Given the description of an element on the screen output the (x, y) to click on. 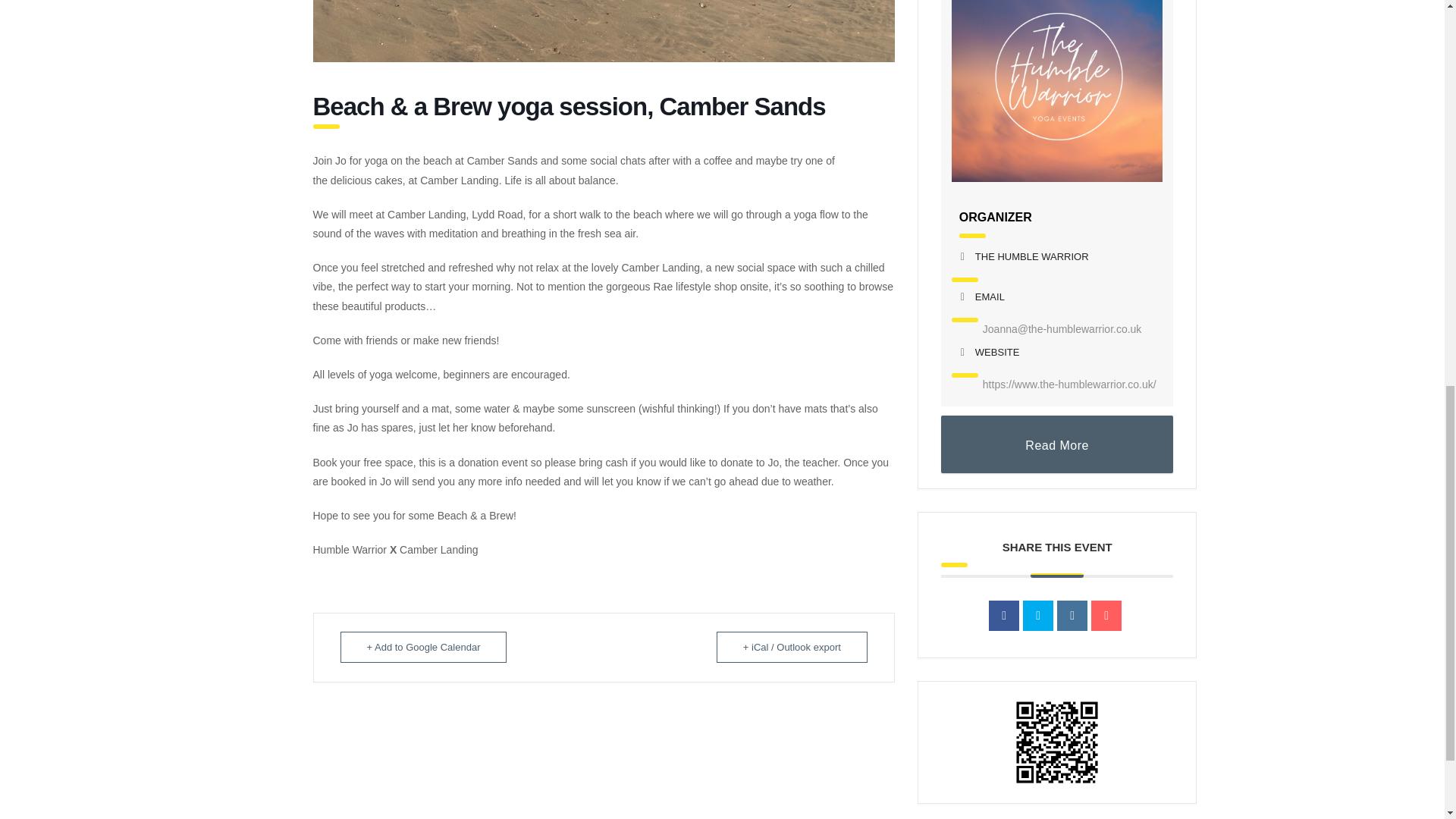
Email (1105, 615)
Tweet (1037, 615)
Read More (1056, 444)
Share on Facebook (1003, 615)
Linkedin (1072, 615)
